Given the description of an element on the screen output the (x, y) to click on. 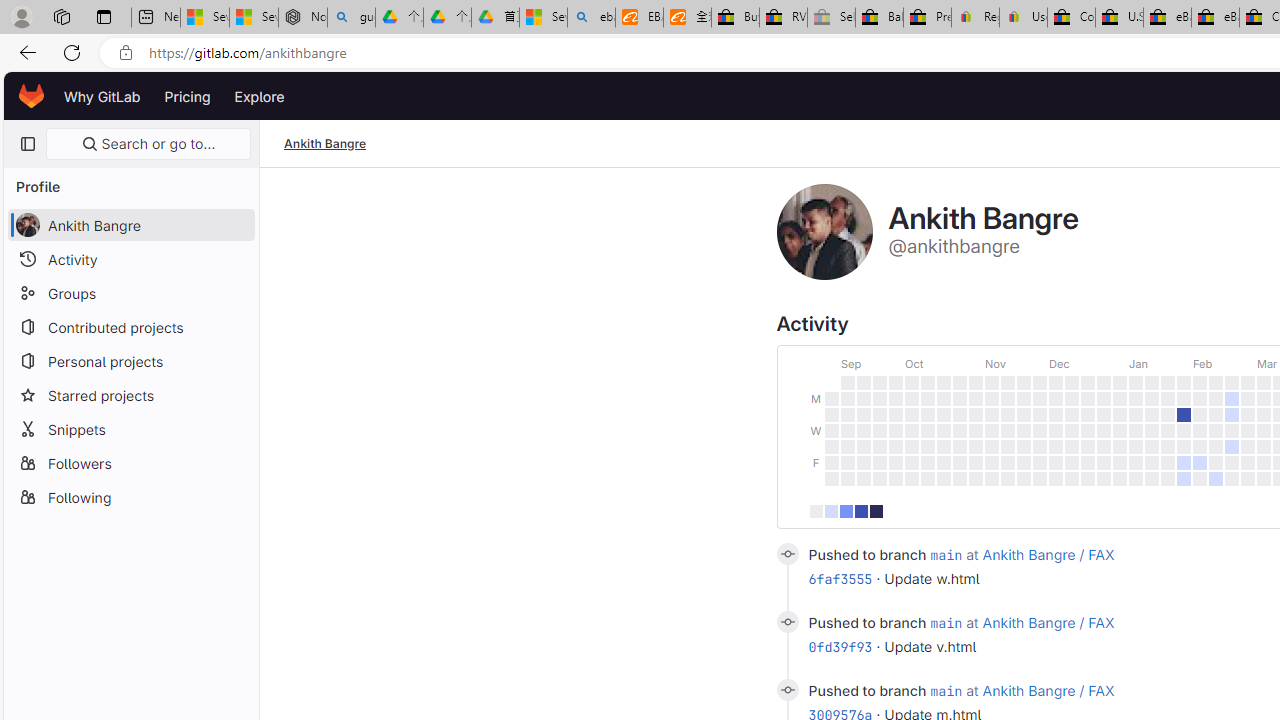
Explore (259, 95)
avatar (27, 224)
Pricing (187, 95)
Personal projects (130, 360)
